Given the description of an element on the screen output the (x, y) to click on. 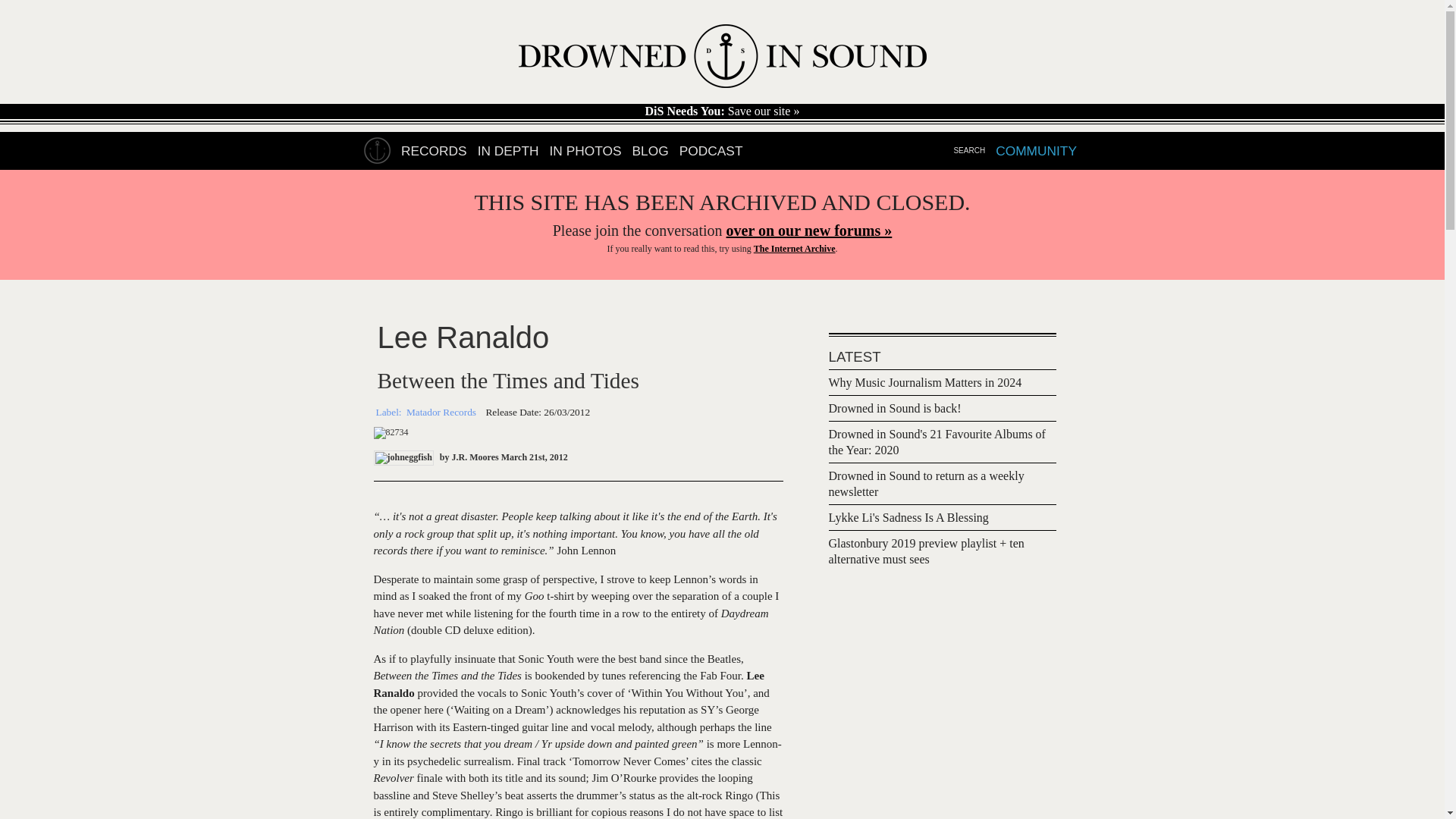
Between the Times and Tides (507, 380)
Lykke Li's Sadness Is A Blessing (908, 518)
Drowned in Sound is back! (894, 409)
IN DEPTH (507, 150)
Drowned in Sound to return as a weekly newsletter (925, 484)
Lee Ranaldo (462, 337)
Drowned in Sound's 21 Favourite Albums of the Year: 2020 (936, 442)
RECORDS (434, 150)
PODCAST (710, 150)
IN PHOTOS (585, 150)
